Given the description of an element on the screen output the (x, y) to click on. 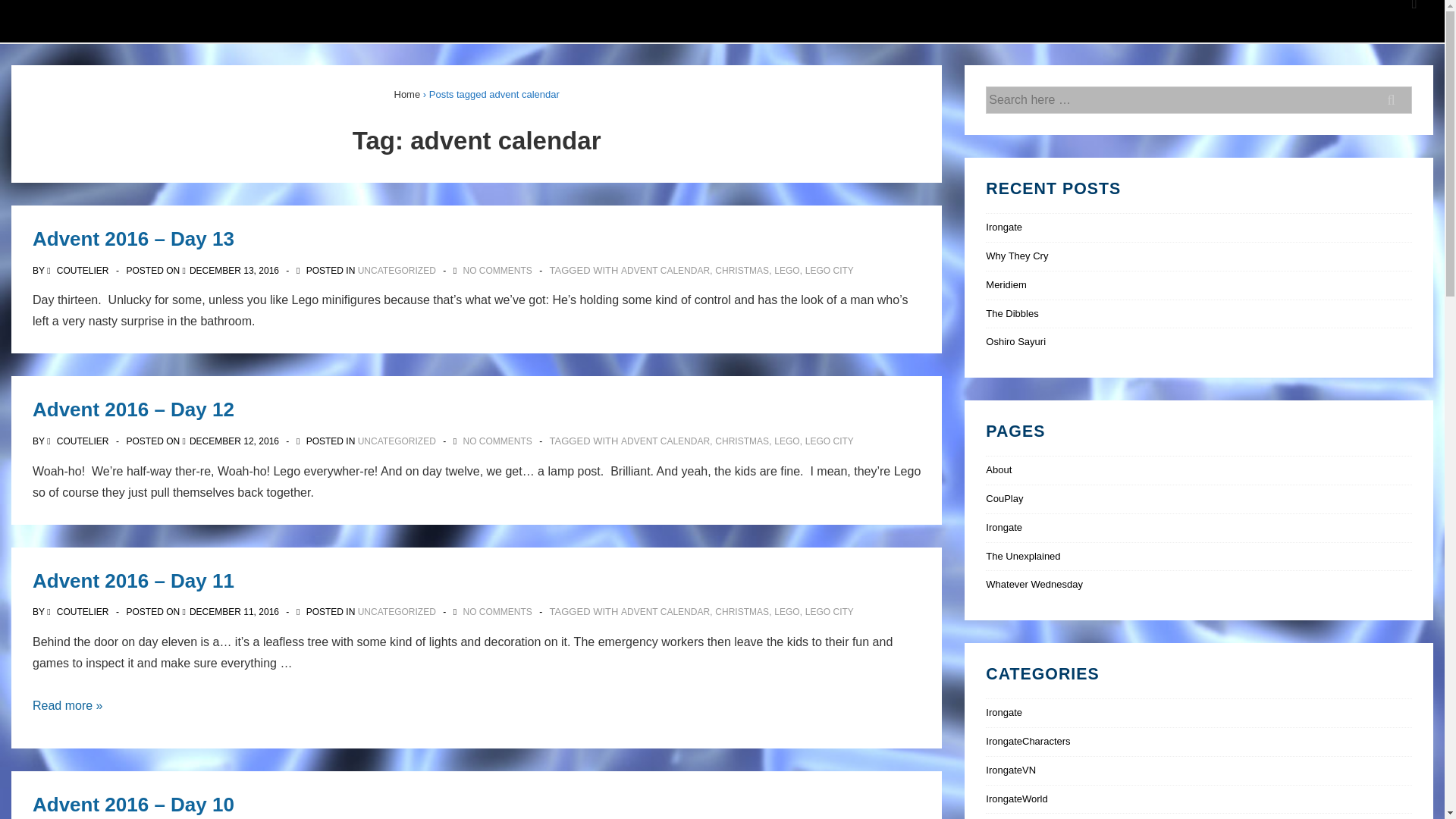
NO COMMENTS (497, 270)
View all posts by Coutelier (79, 440)
ADVENT CALENDAR (665, 270)
LEGO CITY (829, 440)
UNCATEGORIZED (396, 270)
ADVENT CALENDAR (665, 611)
LEGO (786, 440)
CHRISTMAS (741, 440)
UNCATEGORIZED (396, 611)
LEGO (786, 611)
LEGO (786, 270)
View all posts by Coutelier (79, 270)
NO COMMENTS (497, 611)
COUTELIER (79, 440)
LEGO CITY (829, 270)
